Given the description of an element on the screen output the (x, y) to click on. 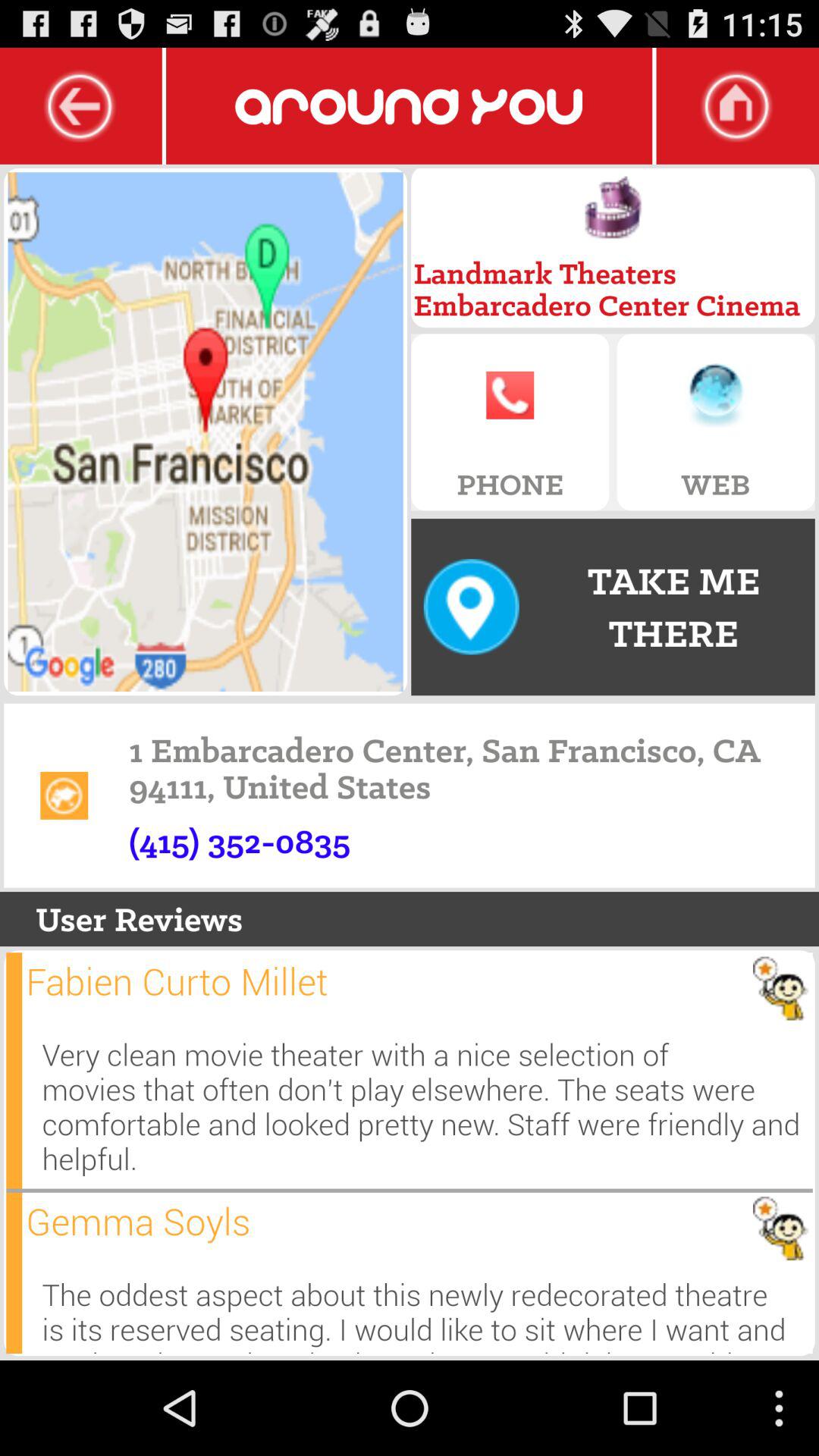
select the 1st image on the web page (205, 431)
click the numbers above user reviews (239, 840)
select the image below the landmark theaters (613, 208)
